Given the description of an element on the screen output the (x, y) to click on. 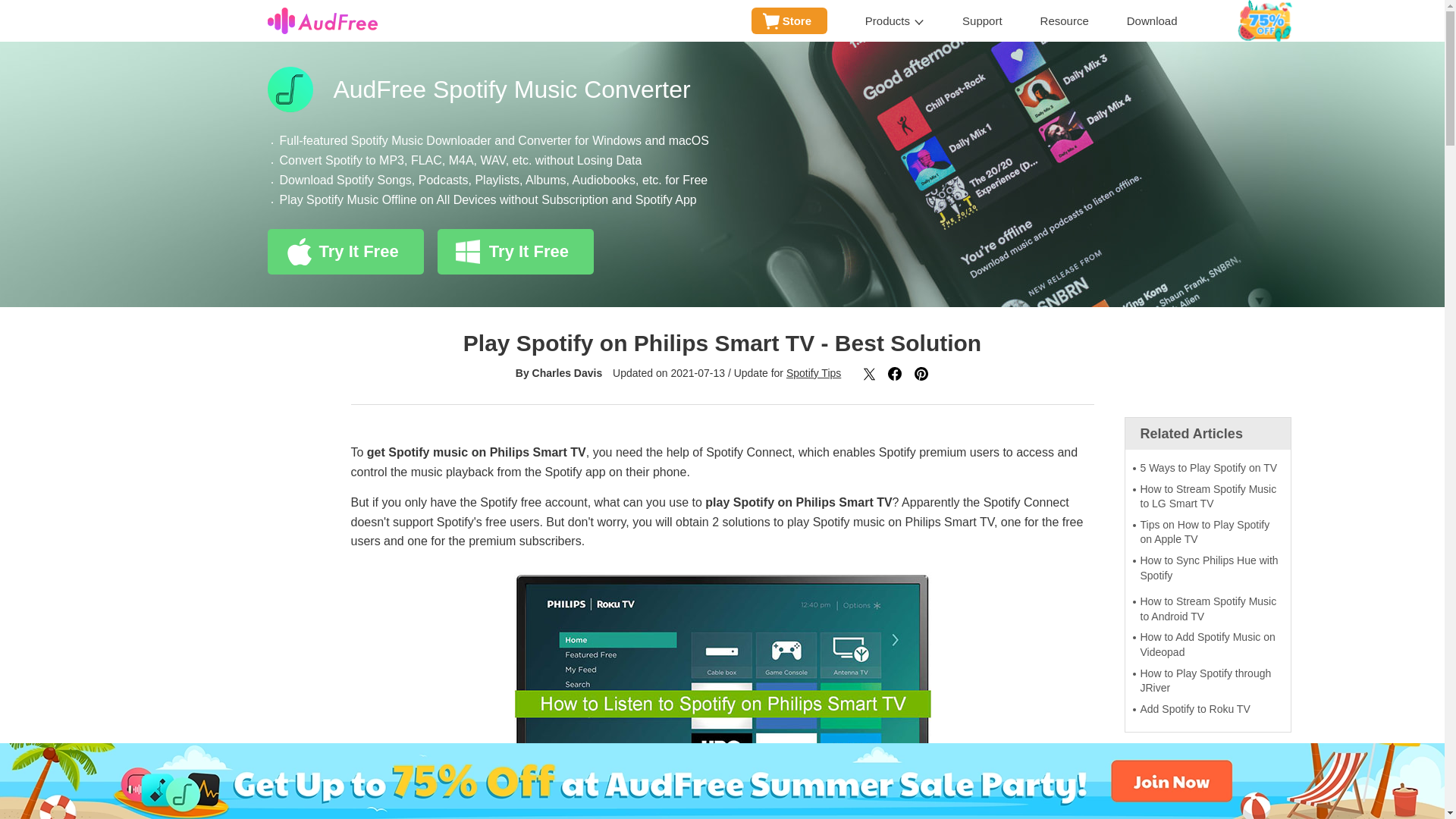
How to Add Spotify Music on Videopad (1207, 644)
Try It Free (516, 251)
Download (1152, 20)
How to Stream Spotify Music to LG Smart TV (1207, 496)
5 Ways to Play Spotify on TV (1207, 468)
Support (982, 20)
Tips on How to Play Spotify on Apple TV (1207, 532)
Charles Davis (567, 372)
Store (789, 20)
Add Spotify to Roku TV (1207, 709)
How to Sync Philips Hue with Spotify (1207, 568)
Products (894, 20)
Resource (1065, 20)
How to Stream Spotify Music to Android TV (1207, 609)
Try It Free (344, 251)
